Given the description of an element on the screen output the (x, y) to click on. 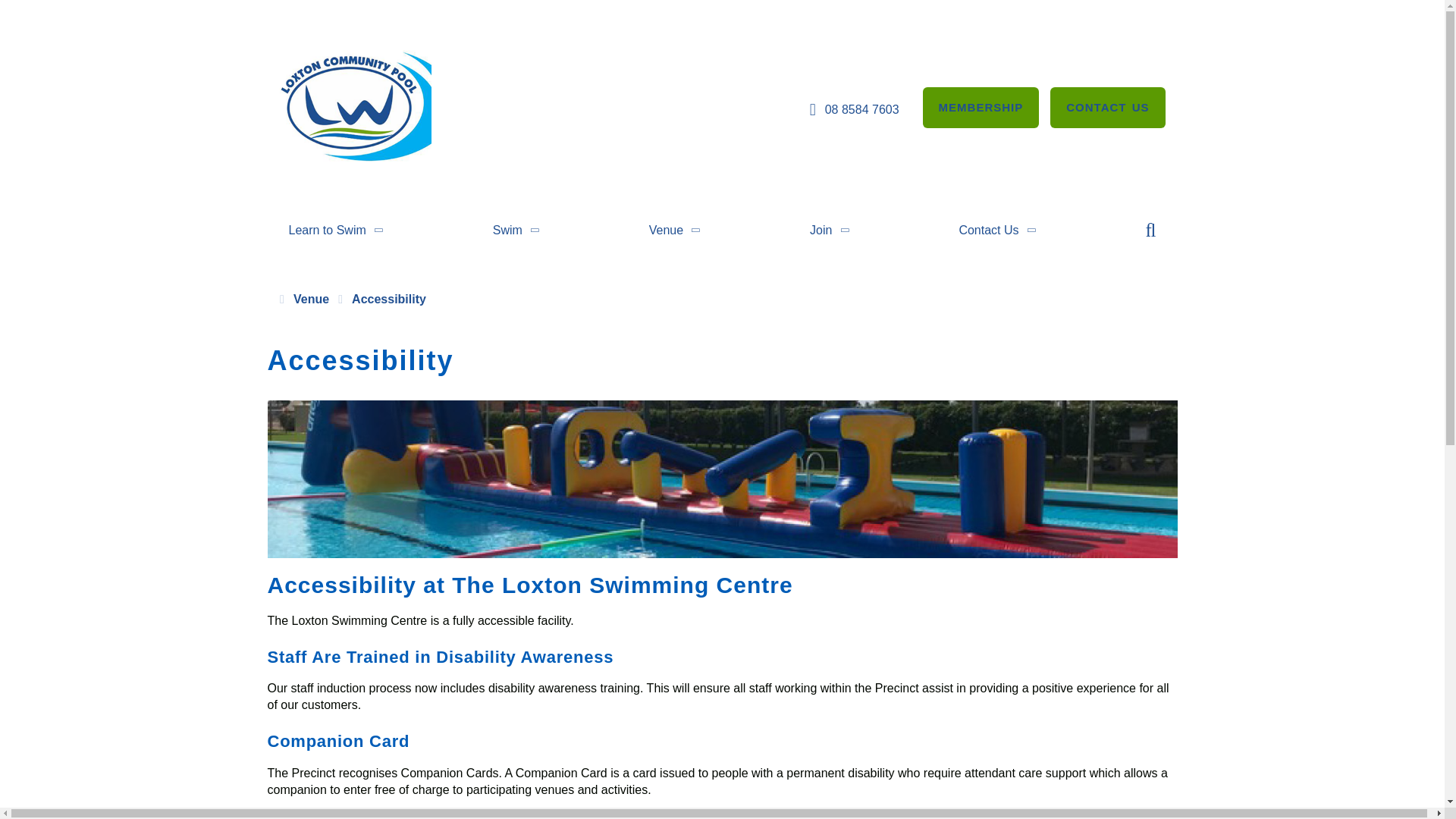
MEMBERSHIP (981, 106)
08 8584 7603 (852, 109)
Venue (675, 230)
Learn to Swim (336, 230)
Swim (516, 230)
CONTACT US (1106, 106)
